Given the description of an element on the screen output the (x, y) to click on. 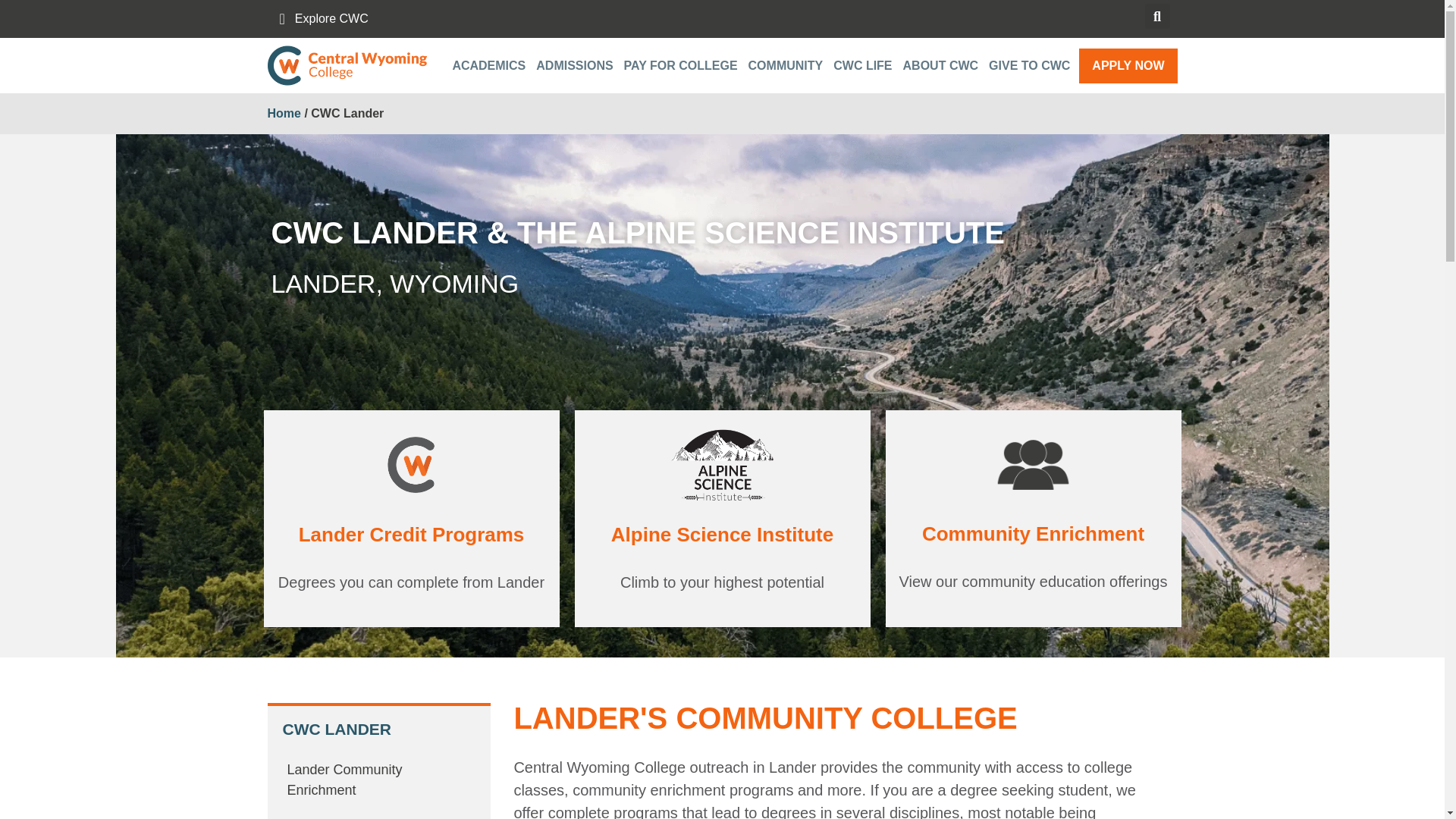
Explore CWC (323, 18)
ACADEMICS (491, 65)
